Given the description of an element on the screen output the (x, y) to click on. 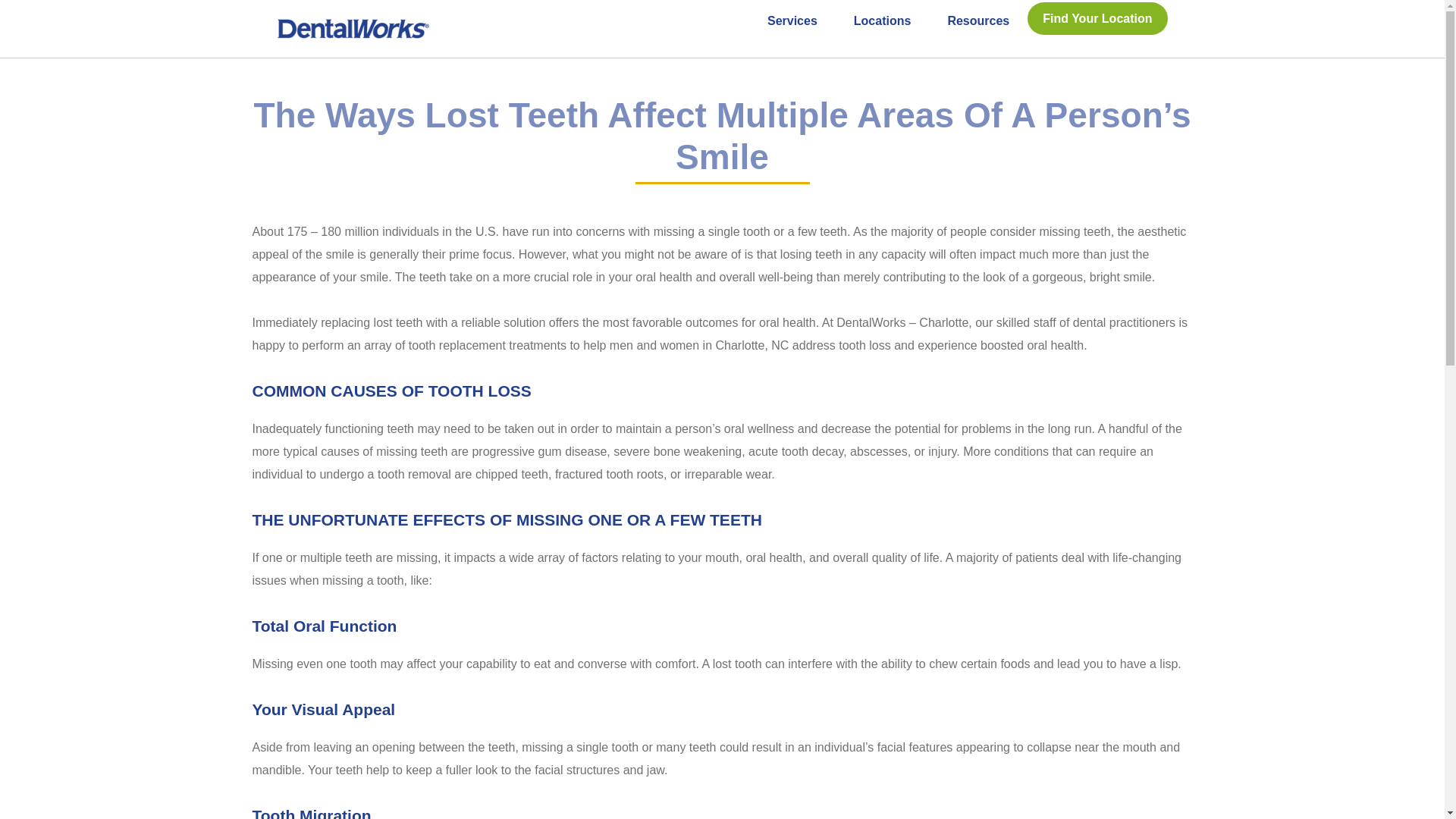
Services (792, 20)
